Given the description of an element on the screen output the (x, y) to click on. 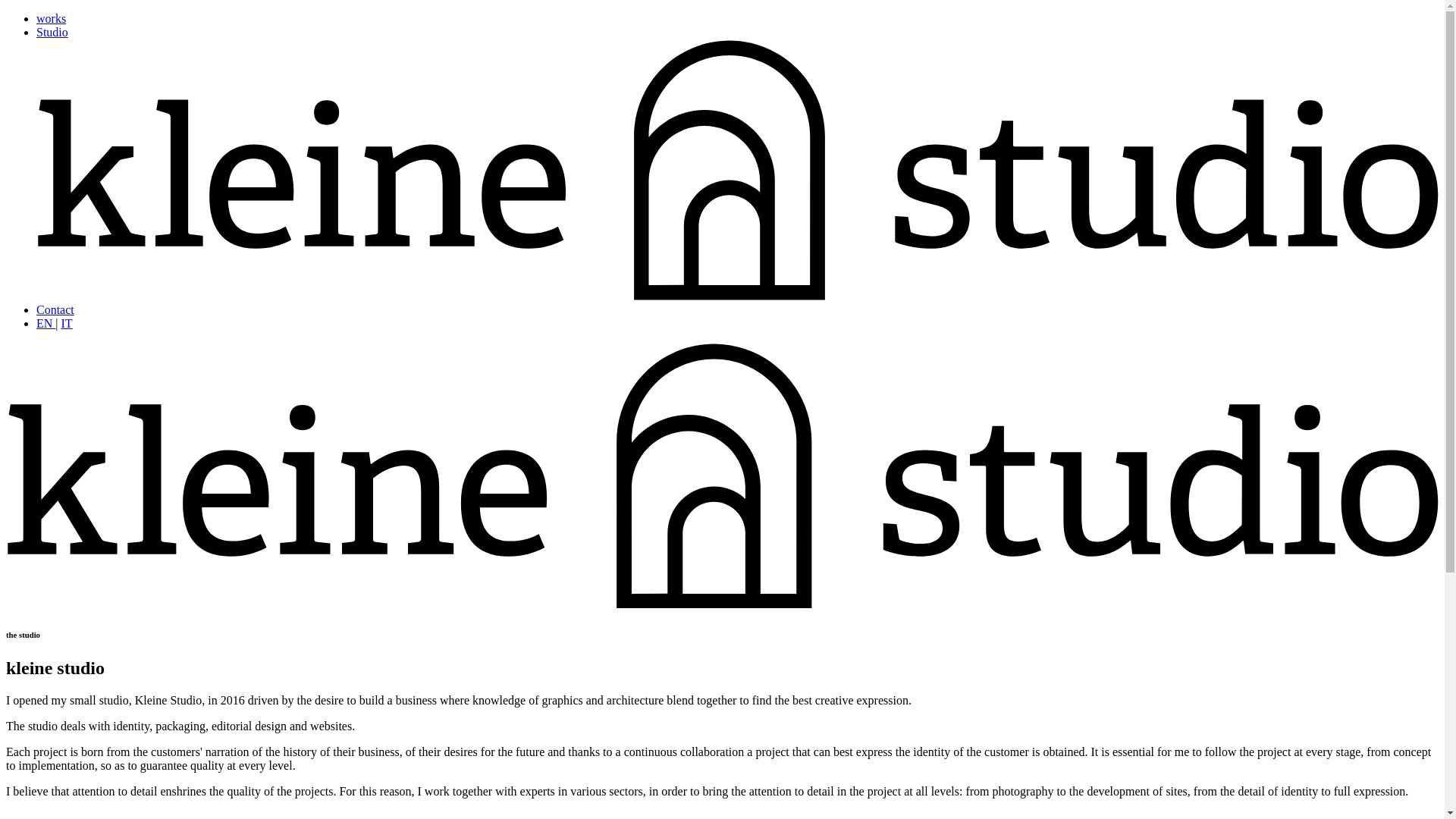
Studio (52, 31)
works (50, 18)
Contact (55, 309)
EN (45, 323)
